Given the description of an element on the screen output the (x, y) to click on. 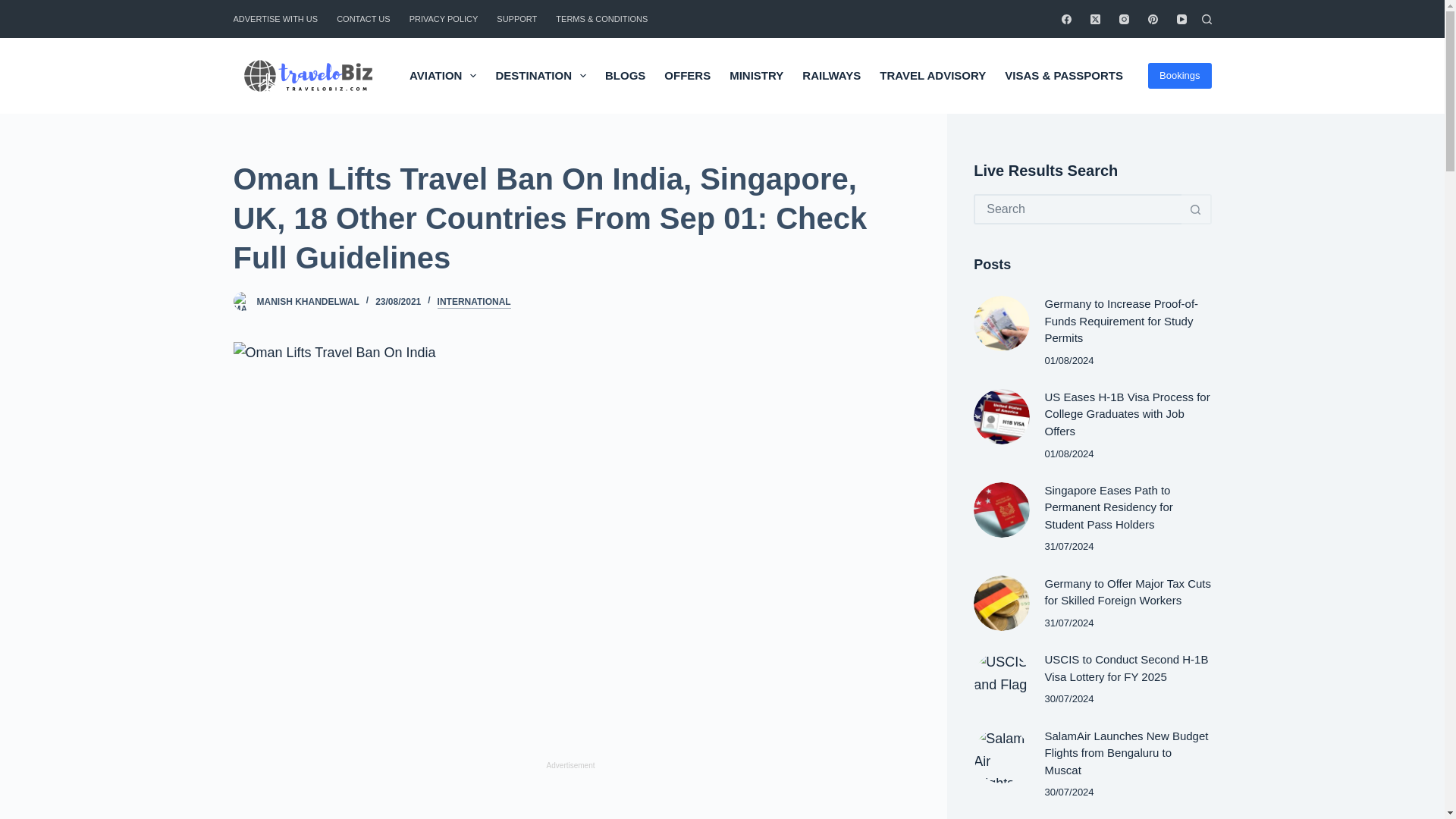
Skip to content (15, 7)
Search for... (1077, 209)
Posts by Manish Khandelwal (307, 301)
PRIVACY POLICY (442, 18)
ADVERTISE WITH US (279, 18)
CONTACT US (363, 18)
SUPPORT (517, 18)
